Given the description of an element on the screen output the (x, y) to click on. 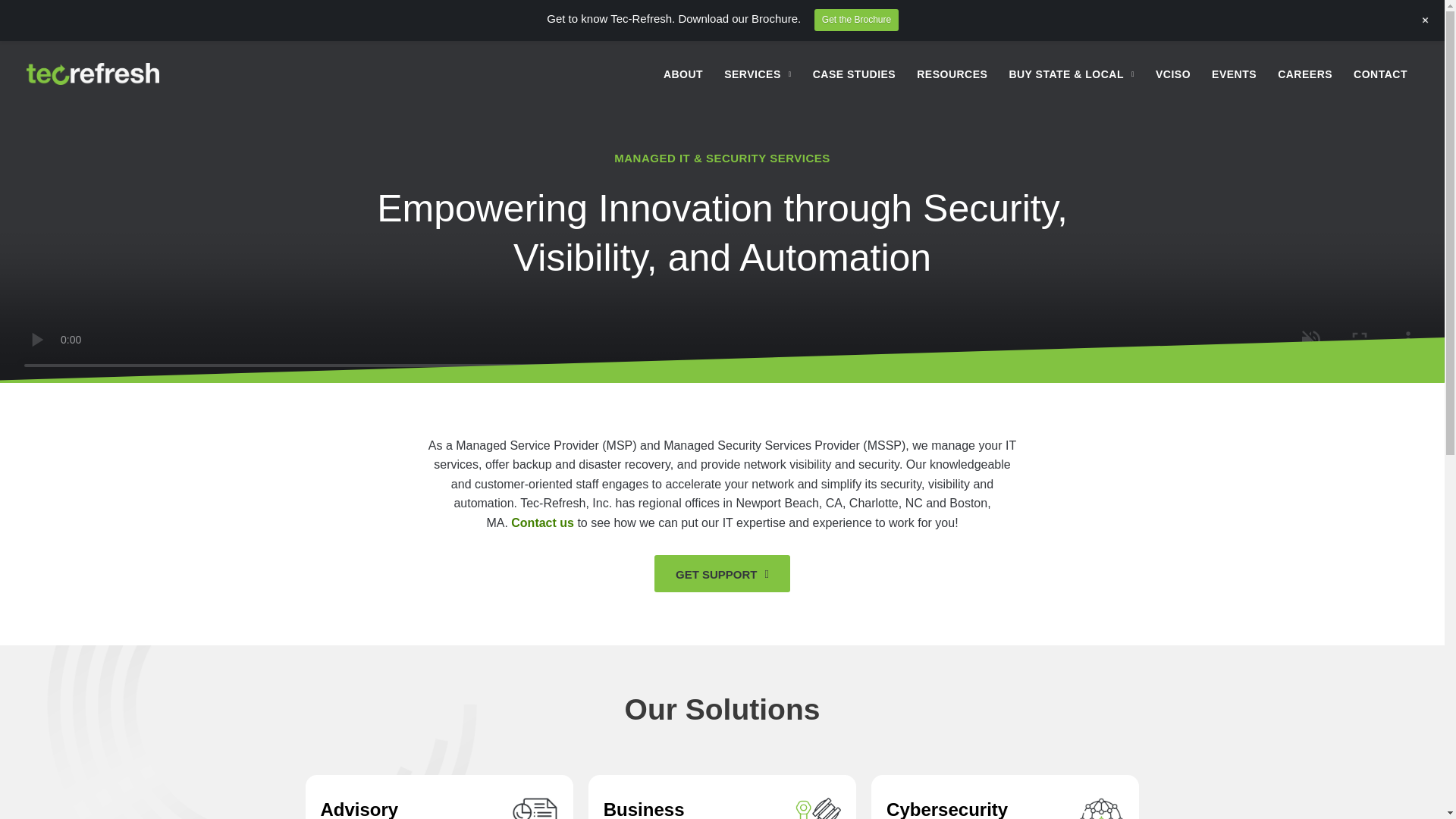
RESOURCES (951, 72)
Contact us (358, 809)
CONTACT (542, 522)
Get the Brochure (1380, 72)
ABOUT (855, 20)
Tec-Refresh (946, 809)
GET SUPPORT (682, 72)
EVENTS (92, 73)
CASE STUDIES (649, 809)
VCISO (721, 573)
CAREERS (1233, 72)
SERVICES (853, 72)
